Given the description of an element on the screen output the (x, y) to click on. 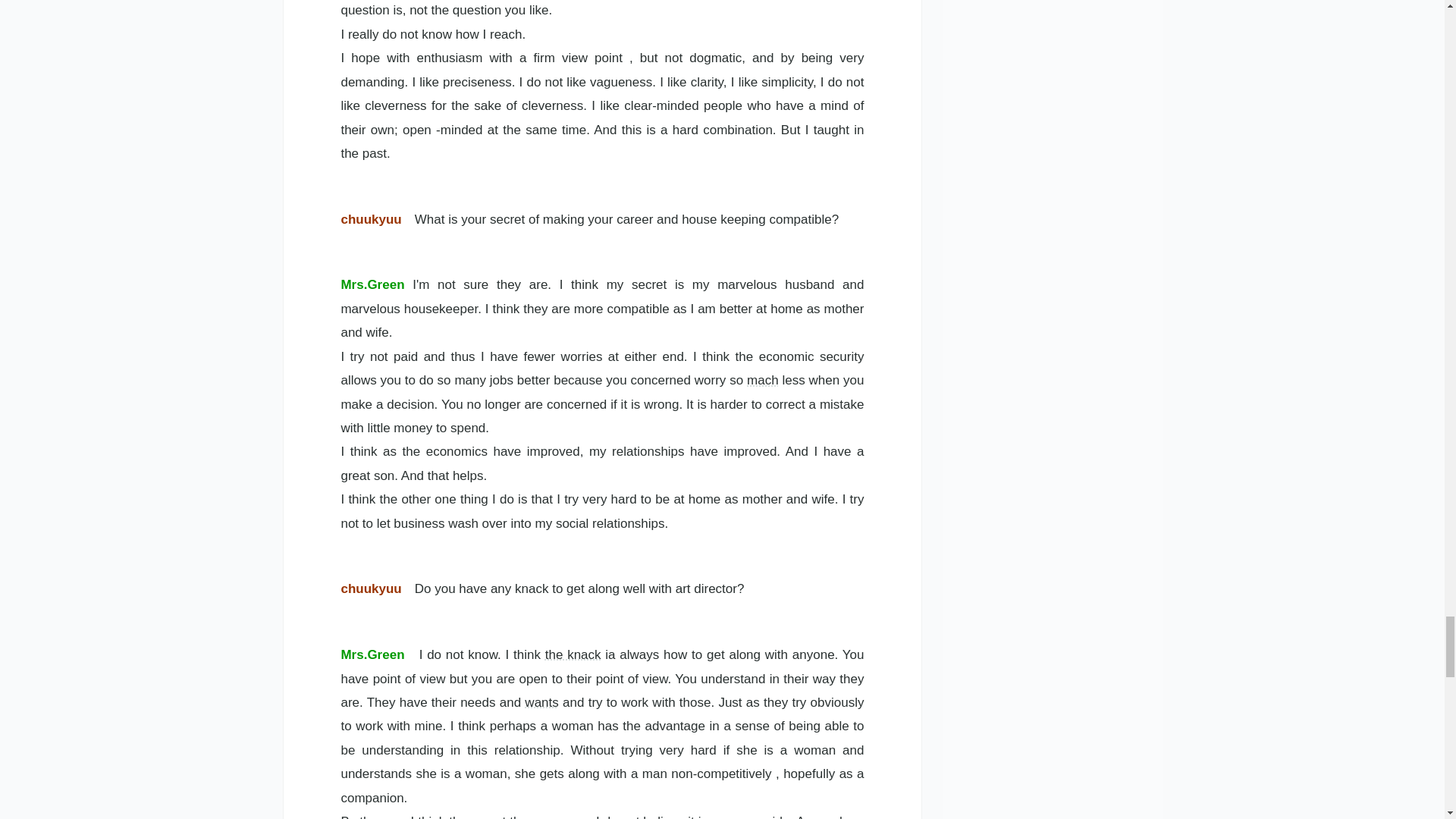
the knack (572, 654)
mach (762, 380)
wants (540, 702)
